Given the description of an element on the screen output the (x, y) to click on. 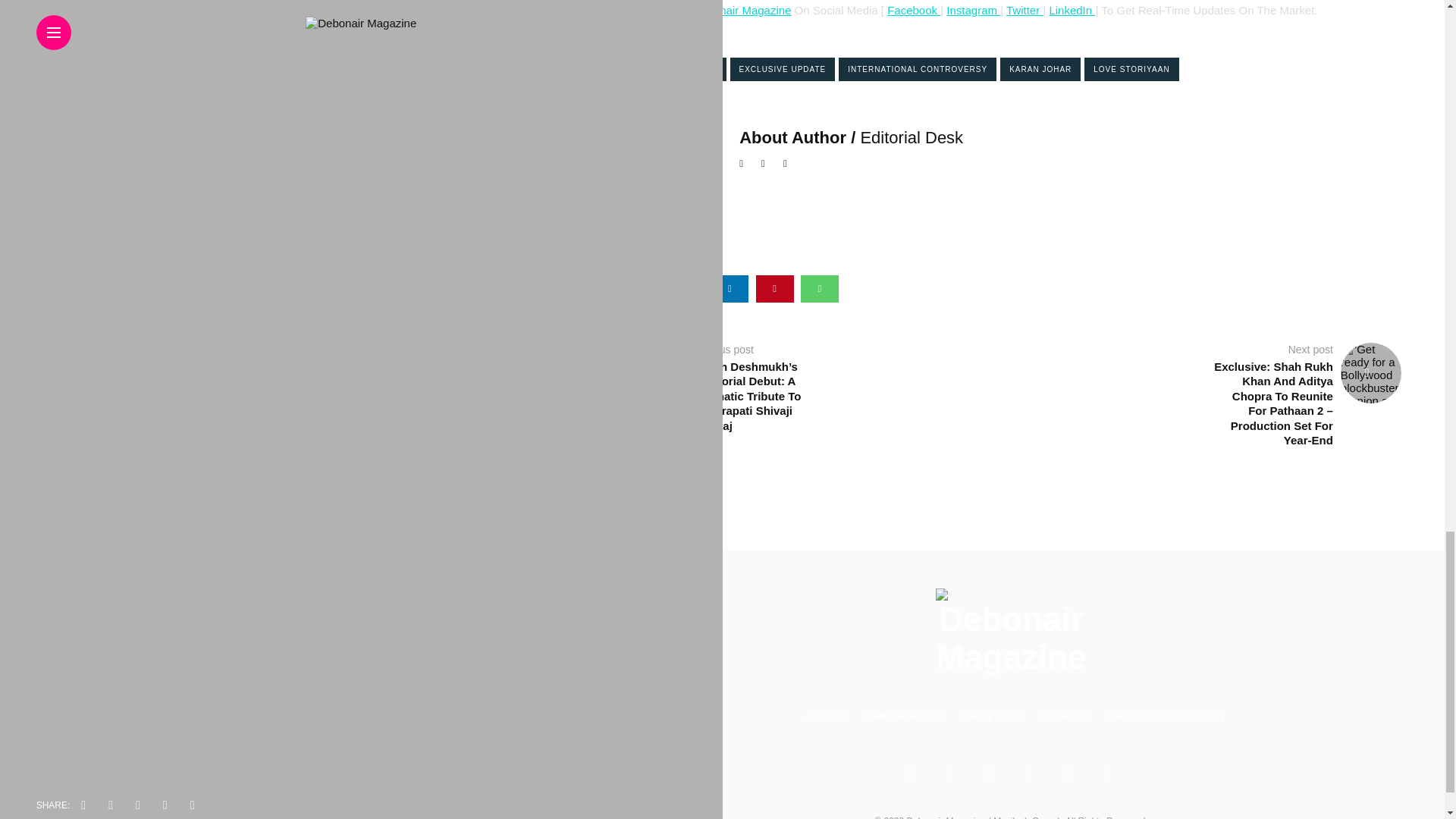
facebook (640, 288)
Debonair Magazine (741, 9)
Instagram  (973, 9)
Posts by Editorial Desk (911, 136)
LinkedIn (1070, 9)
Twitter (1022, 9)
EPISODE 6 (693, 69)
Facebook  (913, 9)
BAN (639, 69)
